Given the description of an element on the screen output the (x, y) to click on. 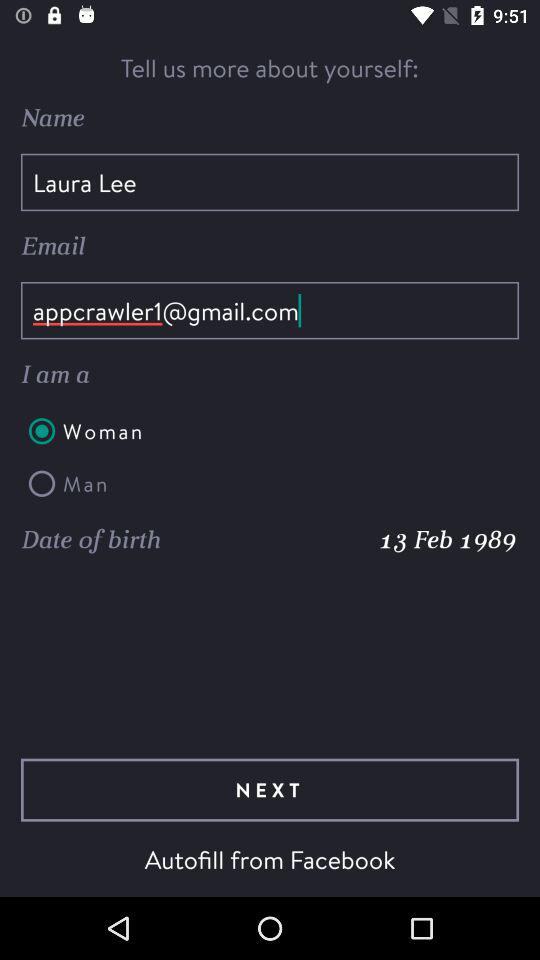
press item above autofill from facebook icon (270, 789)
